Given the description of an element on the screen output the (x, y) to click on. 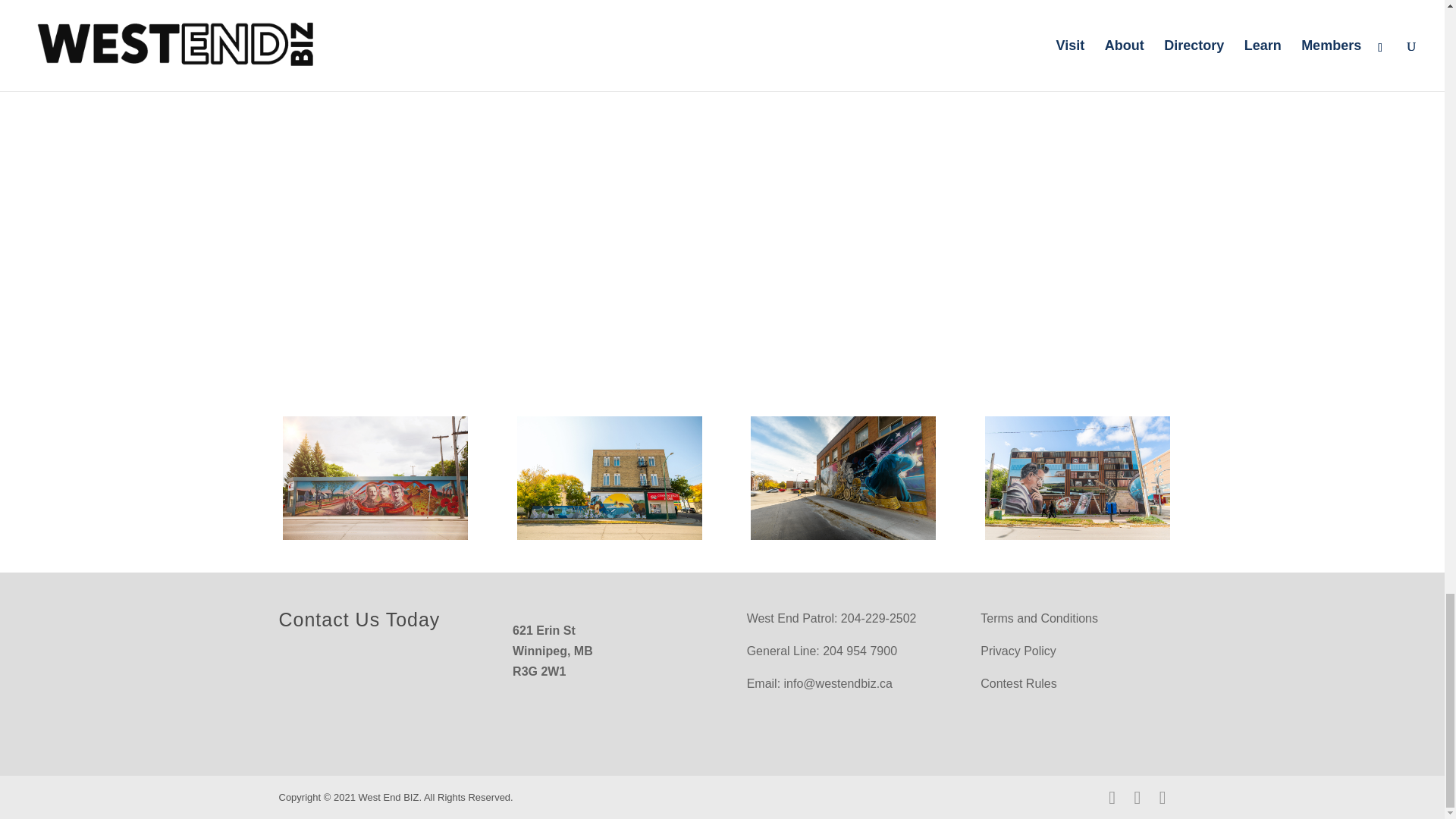
204 954 7900 (859, 650)
Terms and Conditions (1038, 617)
Privacy Policy (1018, 650)
Contest Rules (1018, 683)
West End Patrol: (792, 617)
